Given the description of an element on the screen output the (x, y) to click on. 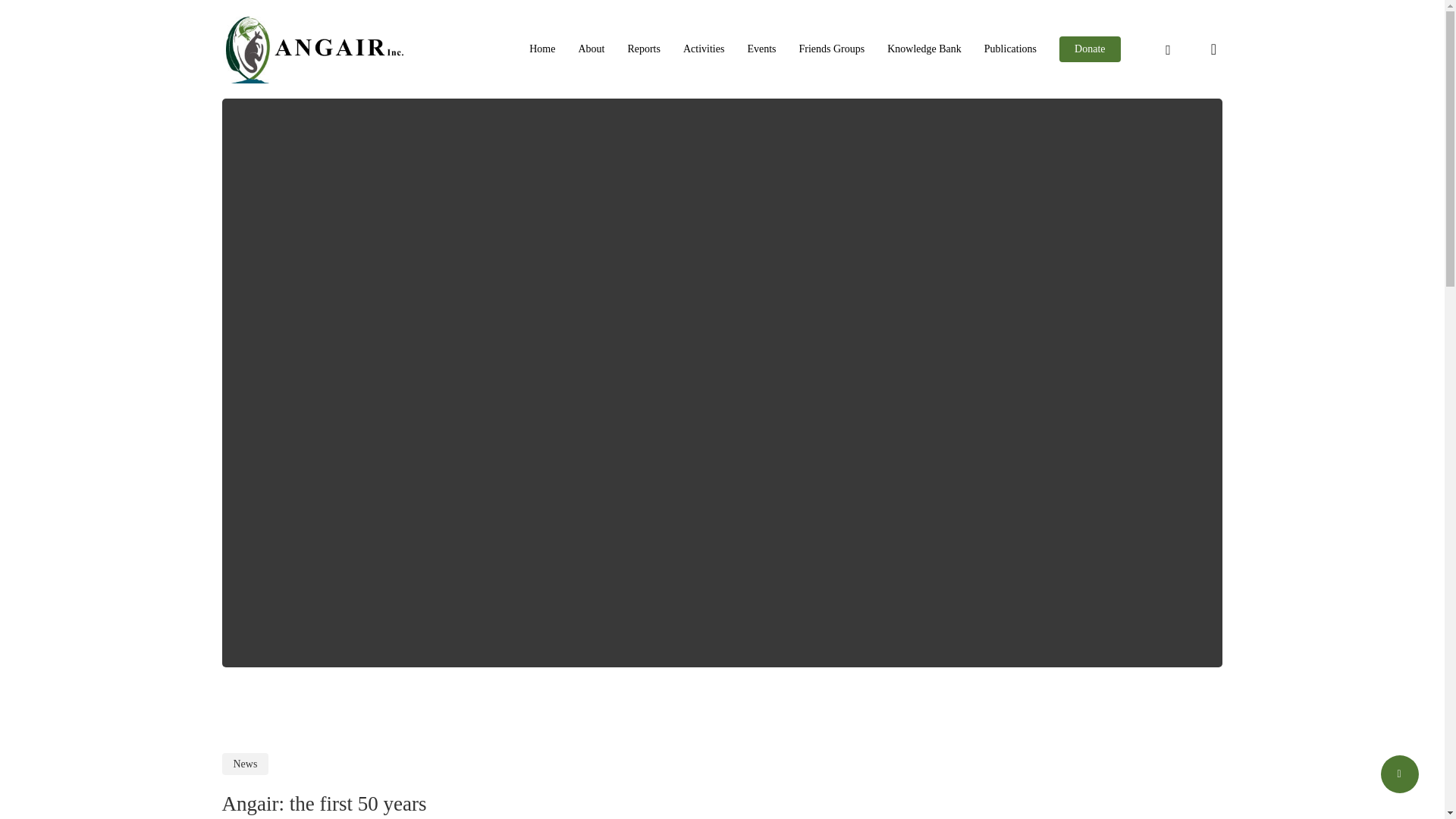
Activities (702, 49)
Knowledge Bank (923, 49)
Reports (644, 49)
Home (541, 49)
Friends Groups (831, 49)
Events (761, 49)
About (591, 49)
